Given the description of an element on the screen output the (x, y) to click on. 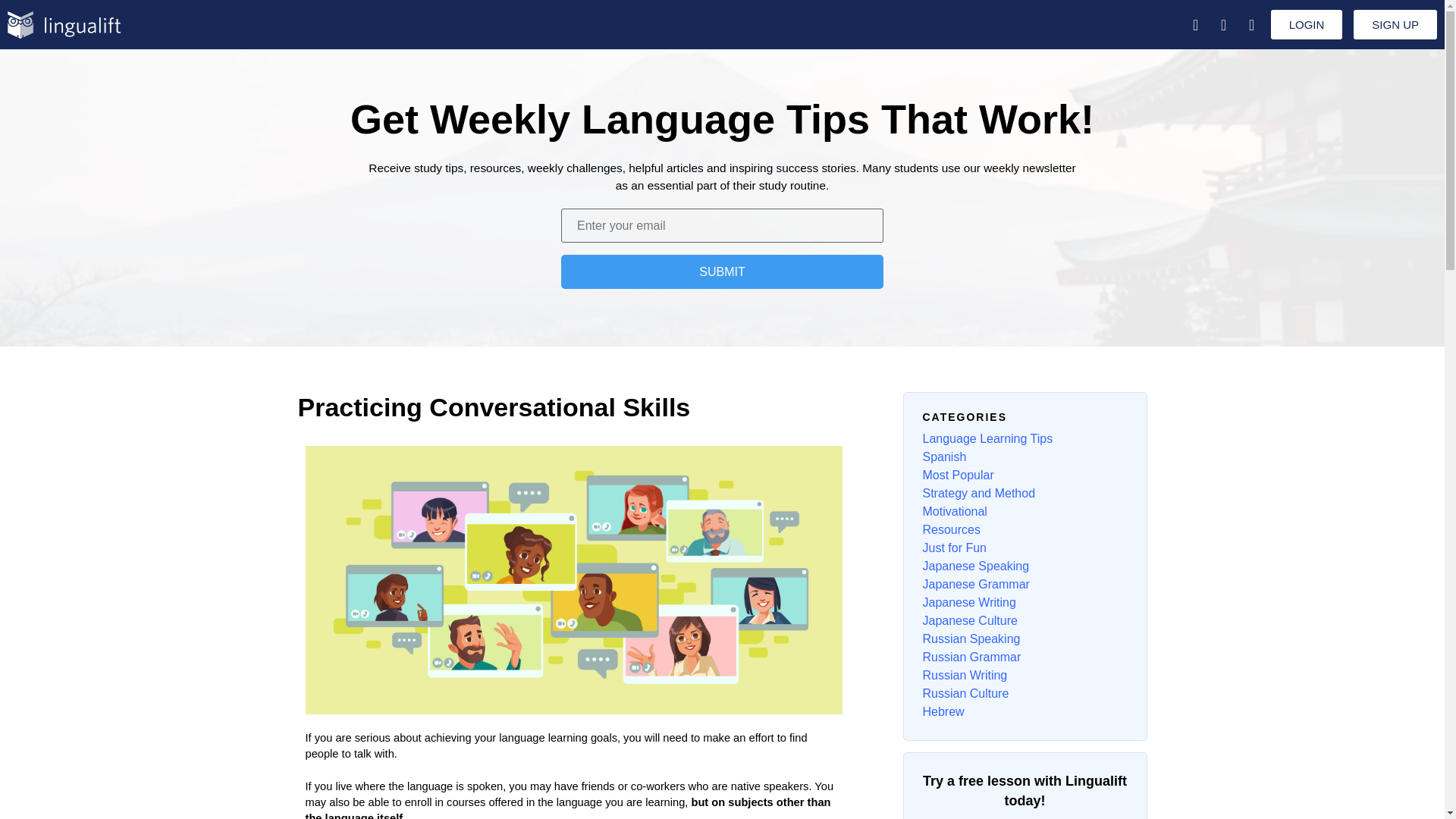
Submit (721, 271)
Submit (721, 271)
Russian Writing (964, 675)
Russian Culture (965, 693)
Motivational (954, 511)
Language Learning Tips (986, 438)
Strategy and Method (978, 492)
Spanish (943, 456)
Japanese Writing (967, 602)
Japanese Speaking (975, 565)
Russian Grammar (970, 656)
Russian Speaking (970, 638)
Japanese Grammar (975, 584)
Japanese Culture (968, 620)
LOGIN (1306, 24)
